Given the description of an element on the screen output the (x, y) to click on. 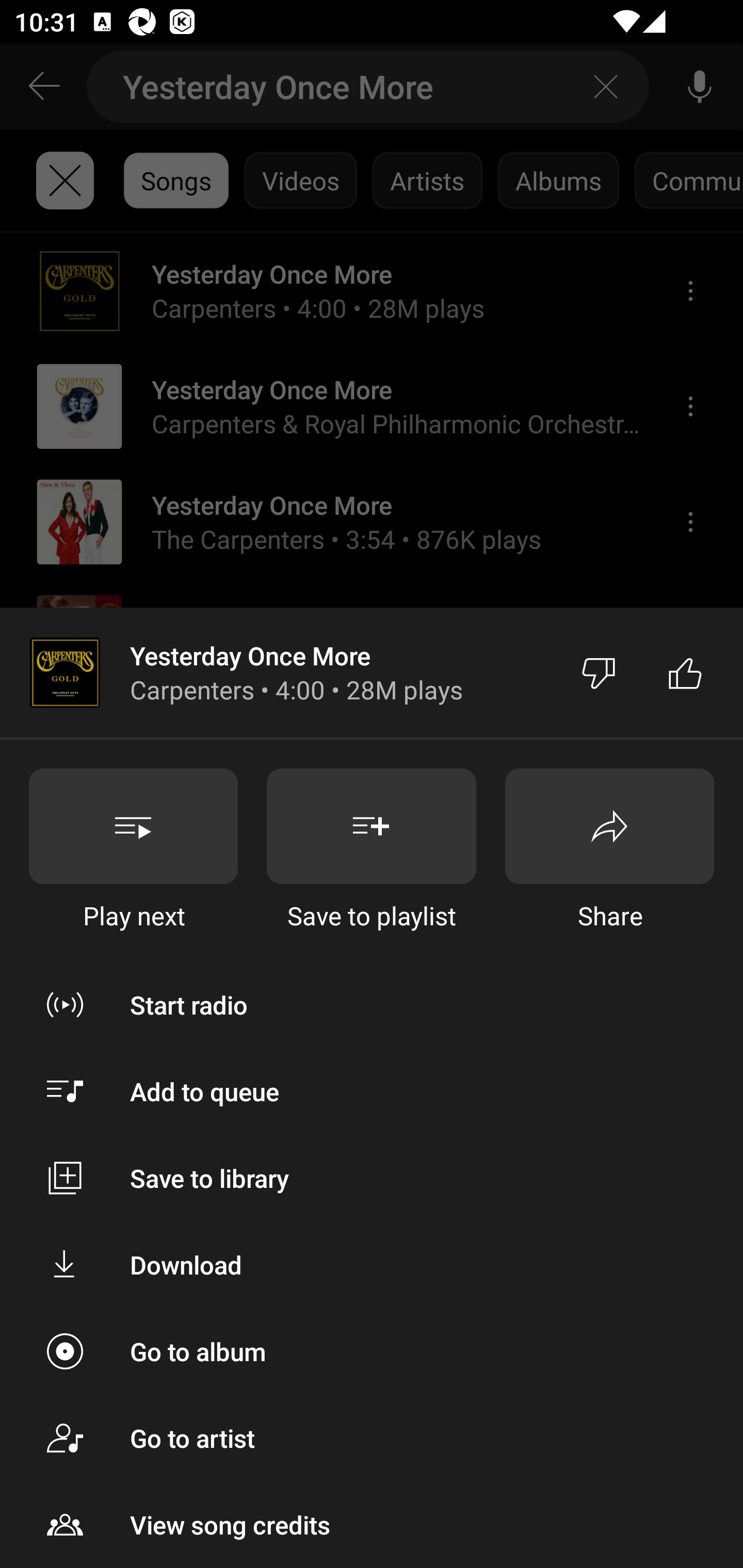
Dislike (598, 672)
Like (684, 672)
Start radio (371, 1004)
Add to queue (371, 1091)
Save to library (371, 1178)
Download (371, 1264)
Go to album (371, 1350)
Go to artist (371, 1437)
View song credits (371, 1524)
